Given the description of an element on the screen output the (x, y) to click on. 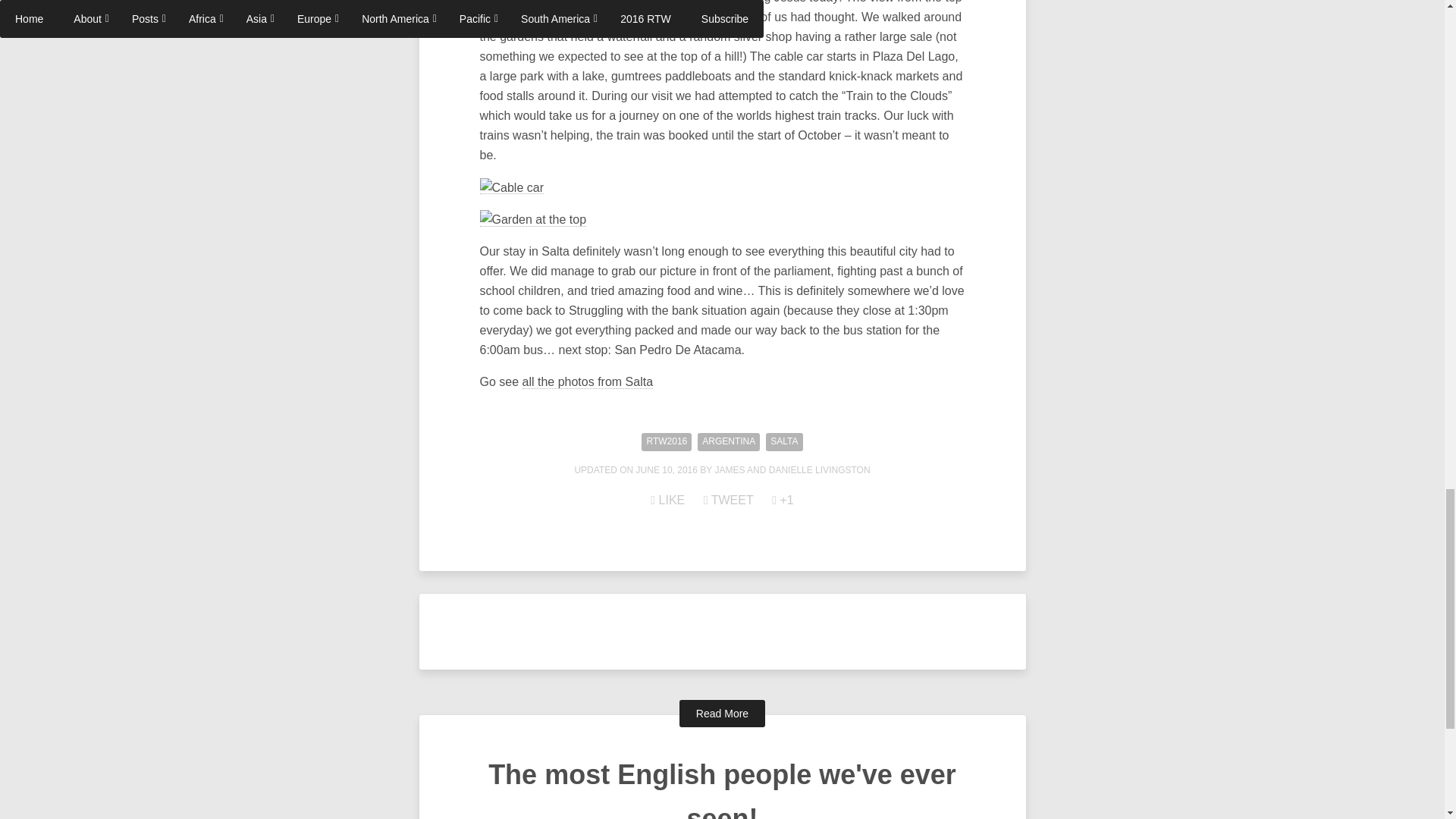
Share on Facebook (667, 499)
Share on Twitter (728, 499)
The most English people we've ever seen! (721, 789)
Share on Google Plus (782, 499)
Pages tagged argentina (728, 442)
Pages tagged rtw2016 (666, 442)
Pages tagged salta (783, 442)
